Given the description of an element on the screen output the (x, y) to click on. 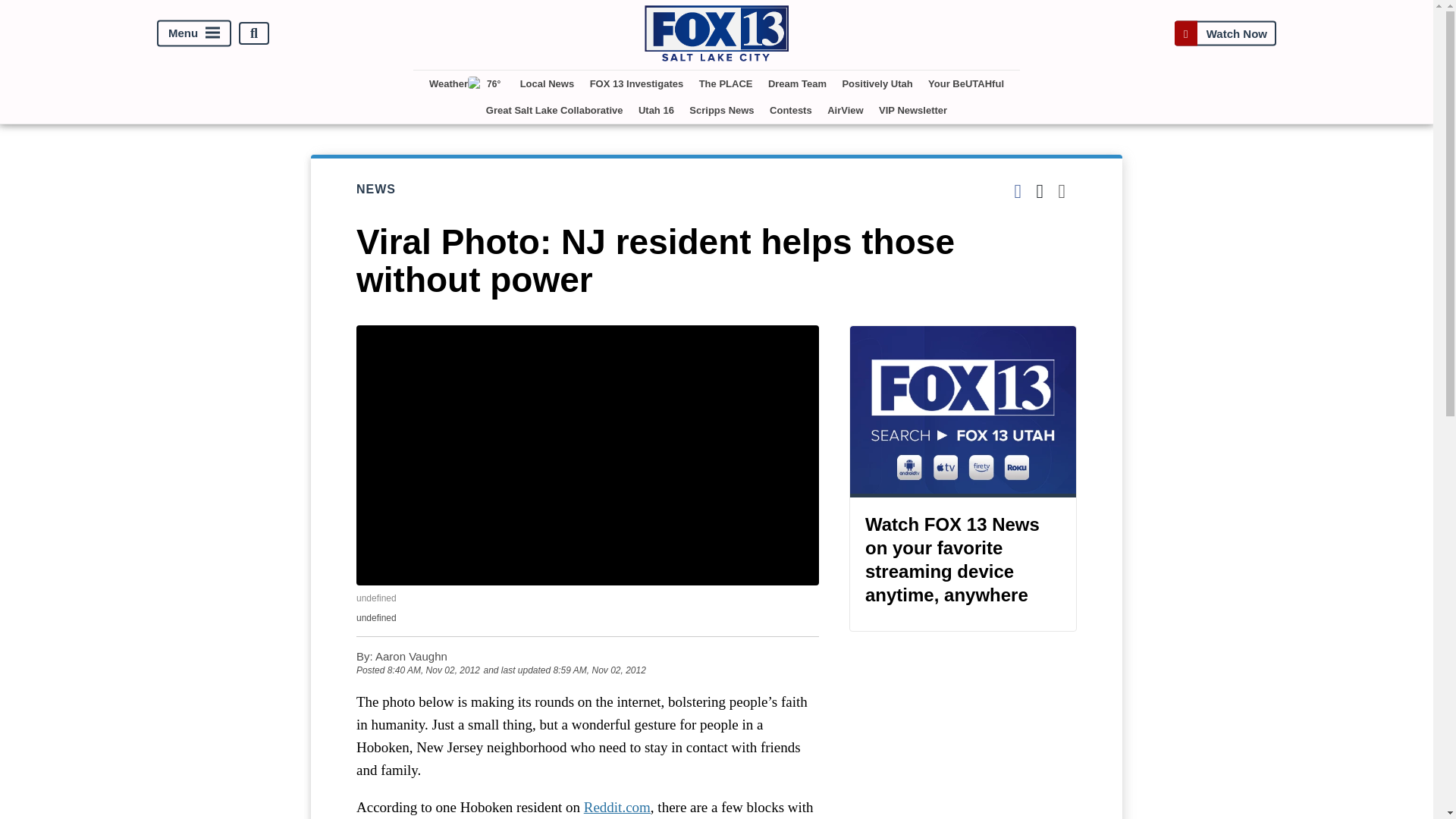
Menu (194, 33)
Watch Now (1224, 33)
